Given the description of an element on the screen output the (x, y) to click on. 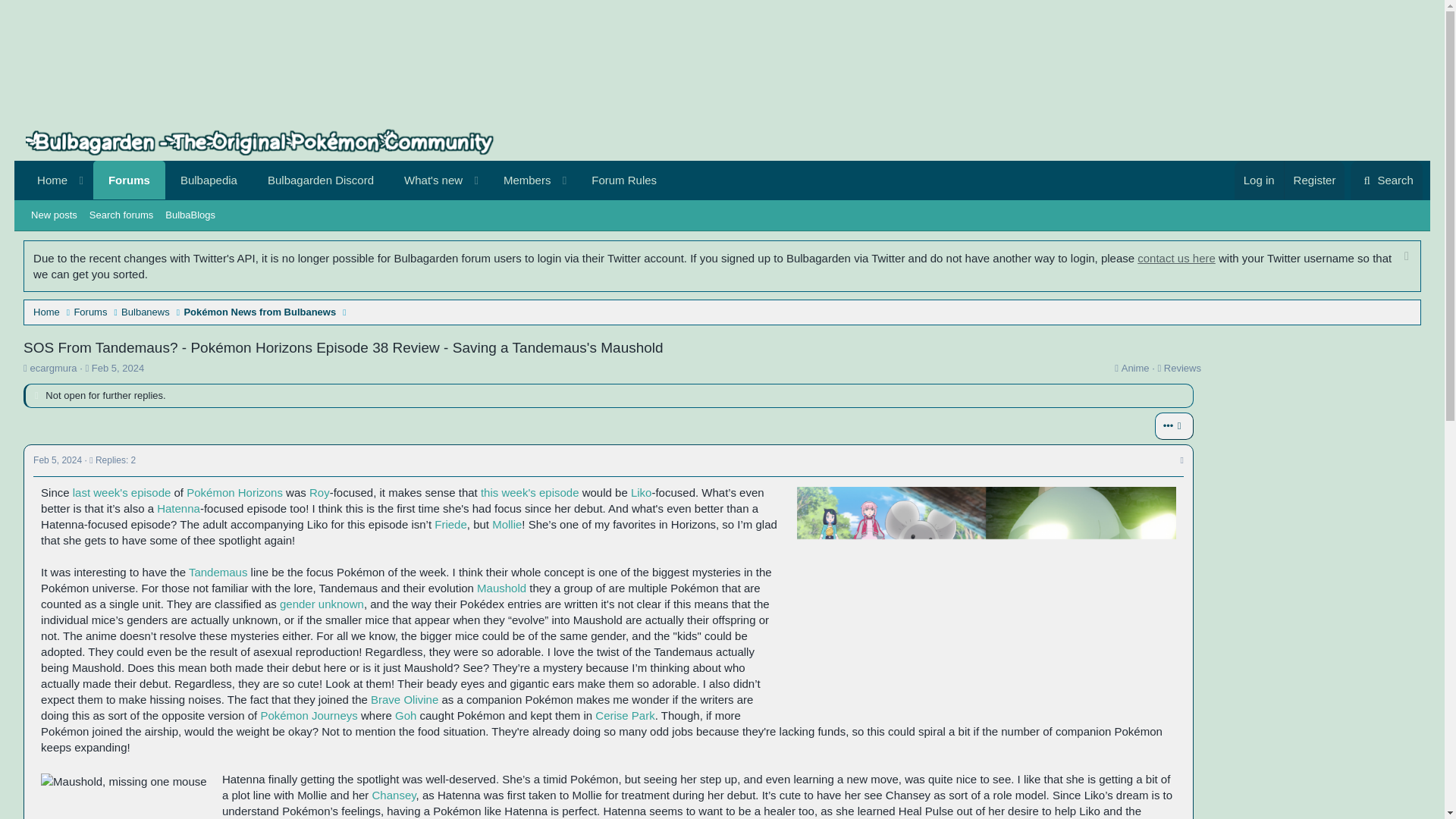
Search (1386, 179)
Bulbagarden Discord (319, 179)
Bulbapedia (208, 179)
Search (1386, 179)
Members (520, 179)
Forums (129, 179)
Register (1314, 179)
Home (45, 179)
Feb 5, 2024 at 1:59 AM (117, 367)
Feb 5, 2024 at 1:59 AM (57, 460)
More options (1173, 425)
Search forums (121, 214)
